Given the description of an element on the screen output the (x, y) to click on. 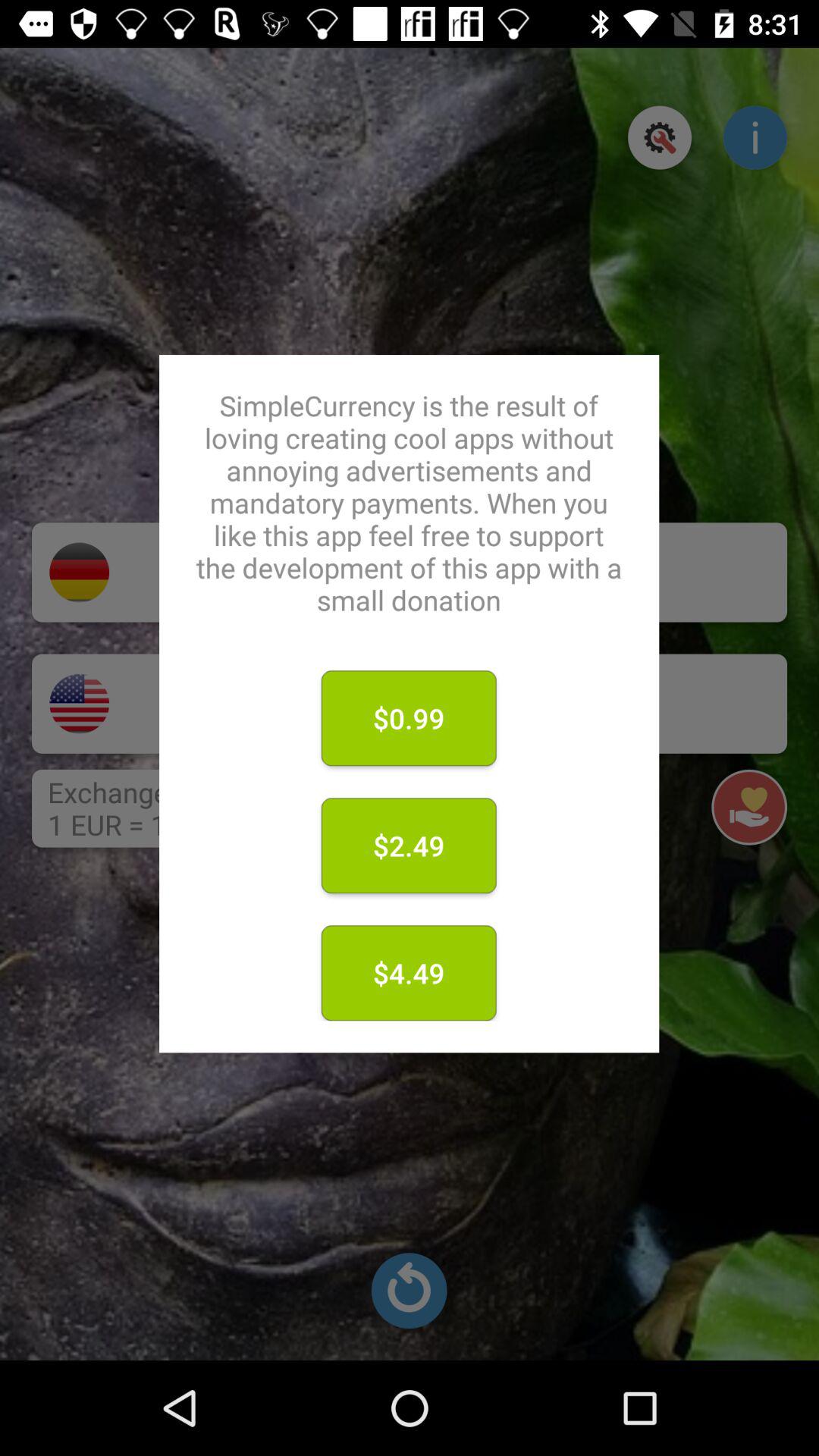
settings swich option (659, 137)
